Given the description of an element on the screen output the (x, y) to click on. 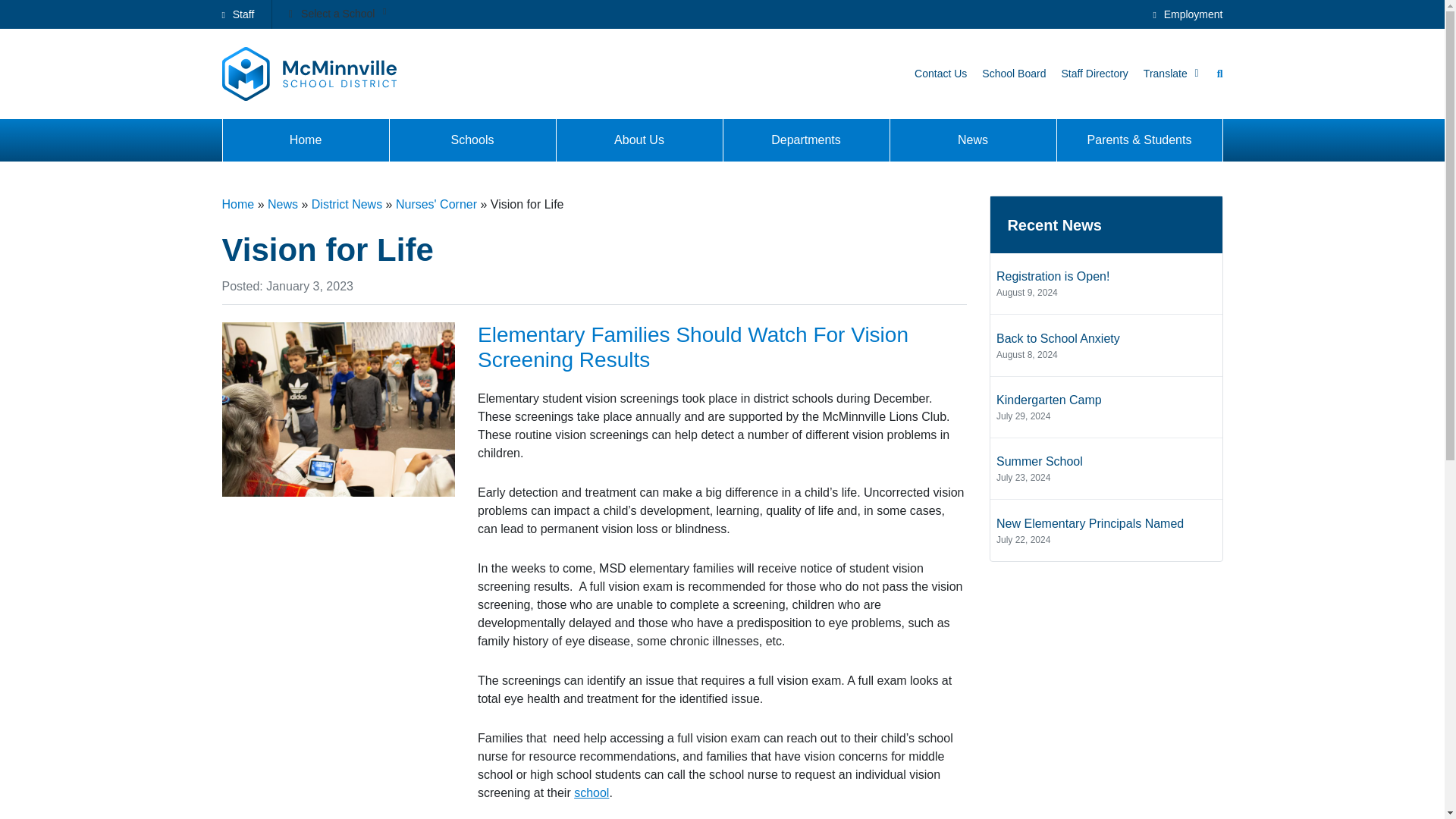
Schools (471, 140)
Select a School (339, 14)
Contact Us (940, 73)
Staff Directory (1093, 73)
Staff (237, 14)
Home (304, 140)
Translate (1171, 73)
Employment (1188, 14)
Select a School (383, 14)
